Given the description of an element on the screen output the (x, y) to click on. 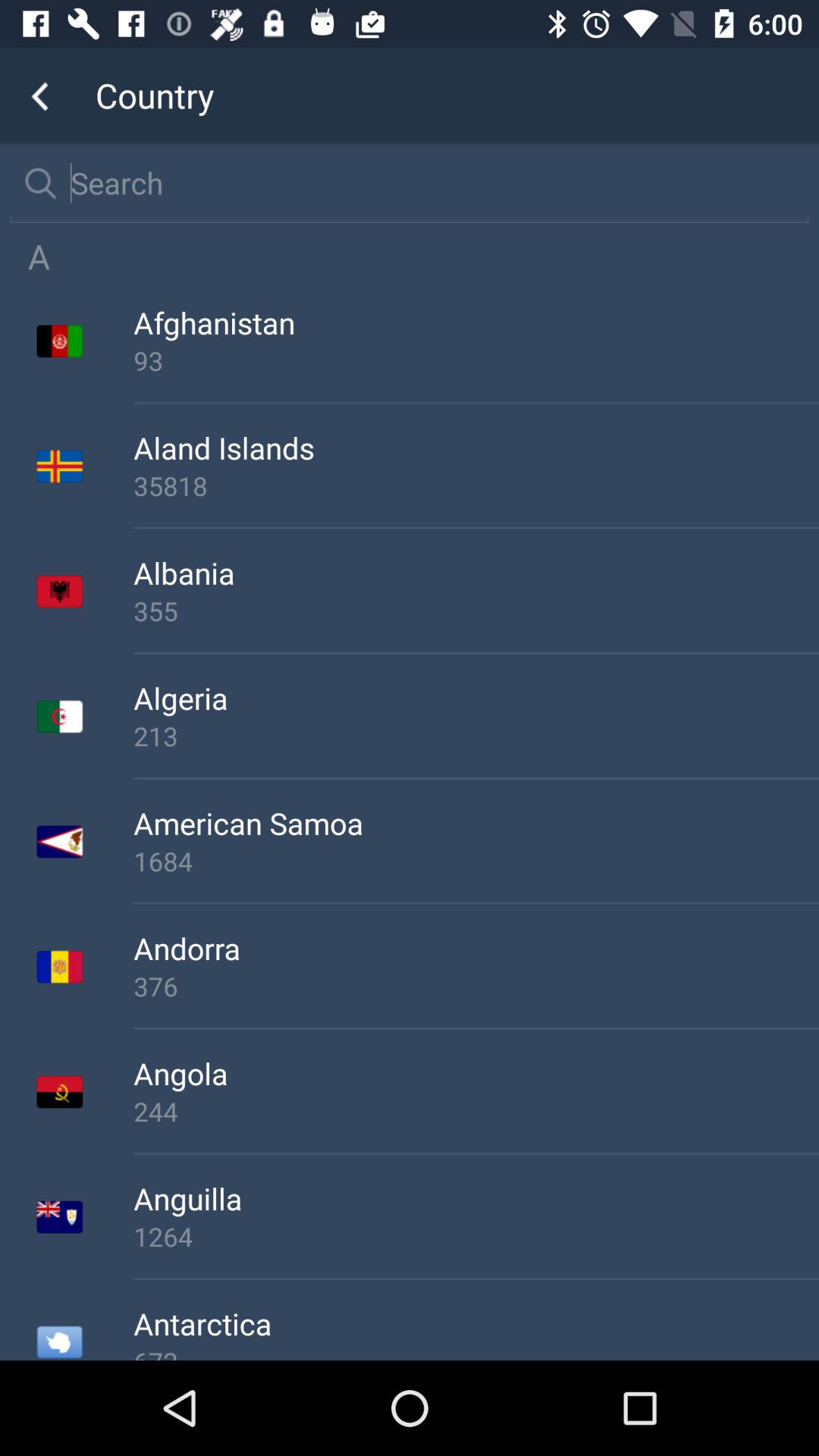
flip to afghanistan app (476, 322)
